Given the description of an element on the screen output the (x, y) to click on. 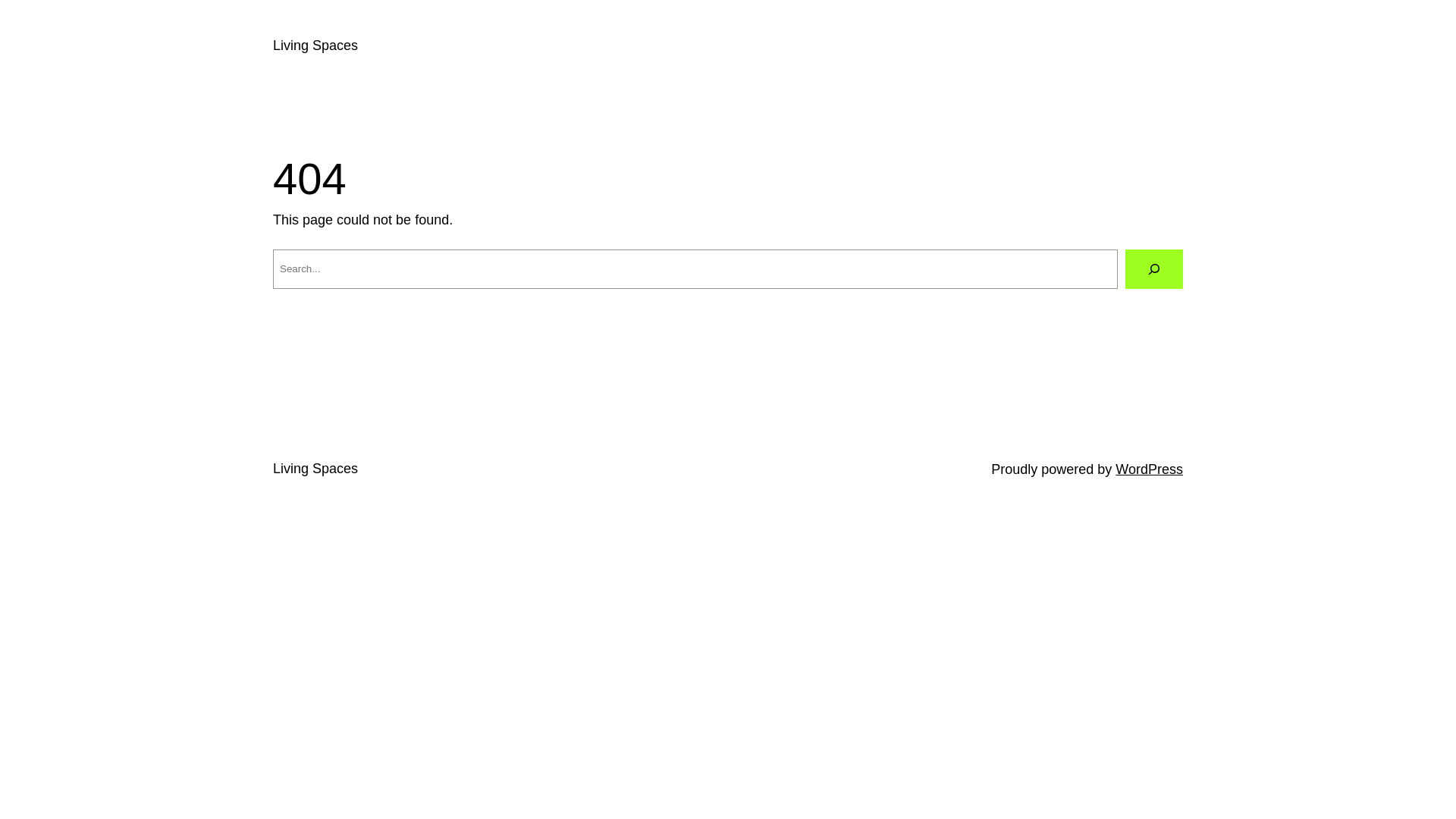
Living Spaces Element type: text (315, 468)
Living Spaces Element type: text (315, 45)
WordPress Element type: text (1149, 468)
